Given the description of an element on the screen output the (x, y) to click on. 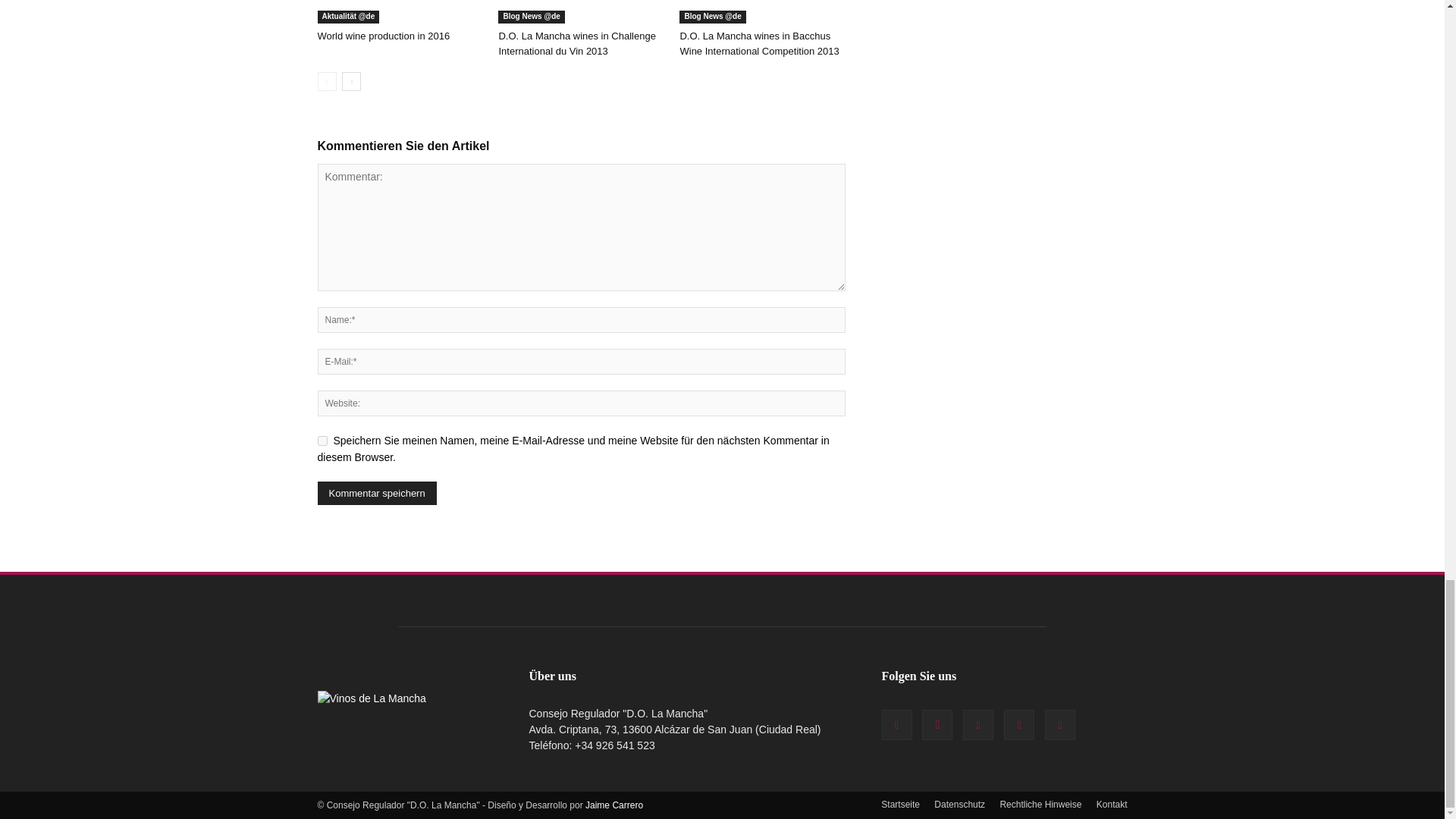
yes (321, 440)
Kommentar speichern (376, 493)
